Given the description of an element on the screen output the (x, y) to click on. 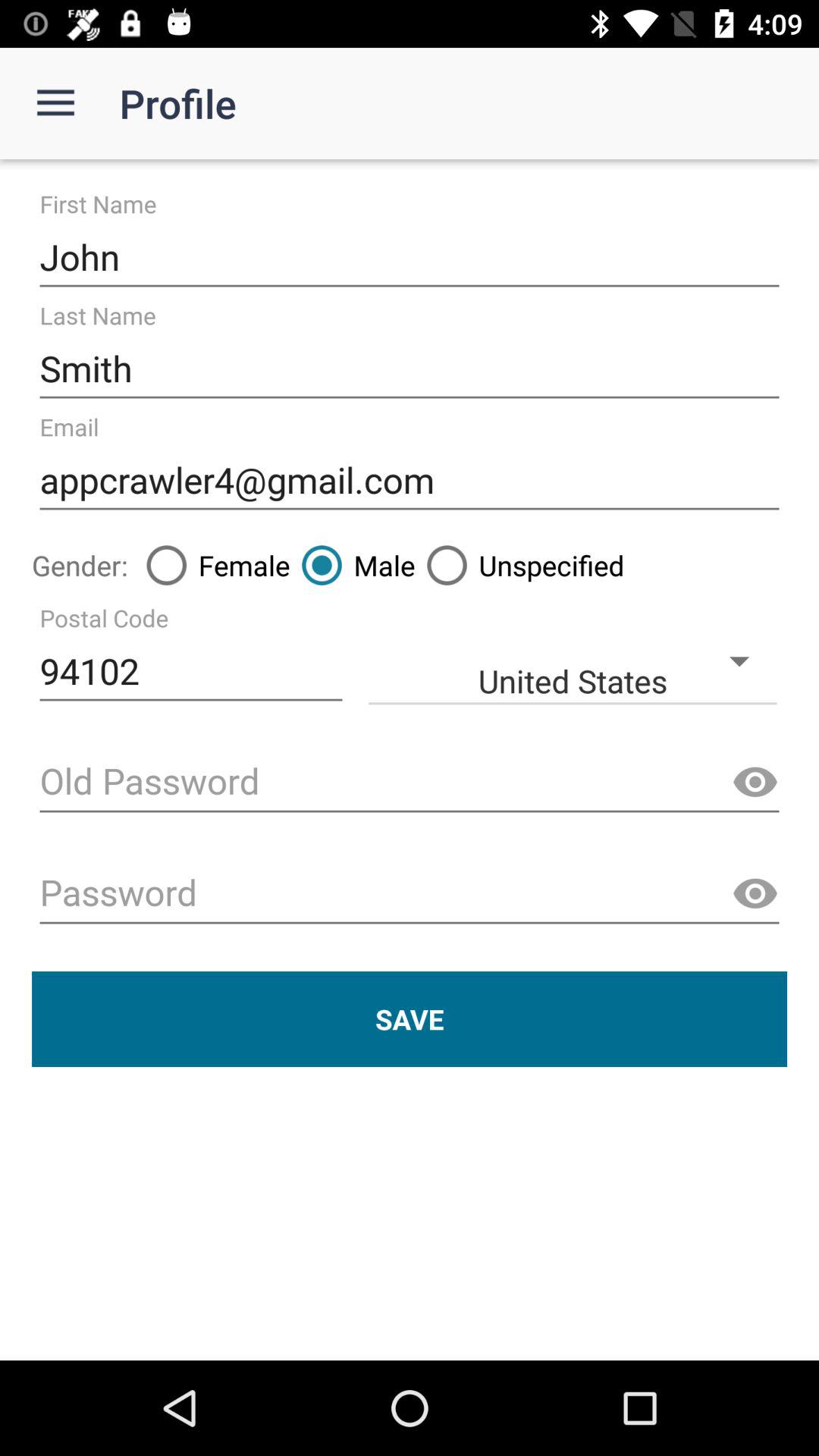
password field (409, 894)
